Given the description of an element on the screen output the (x, y) to click on. 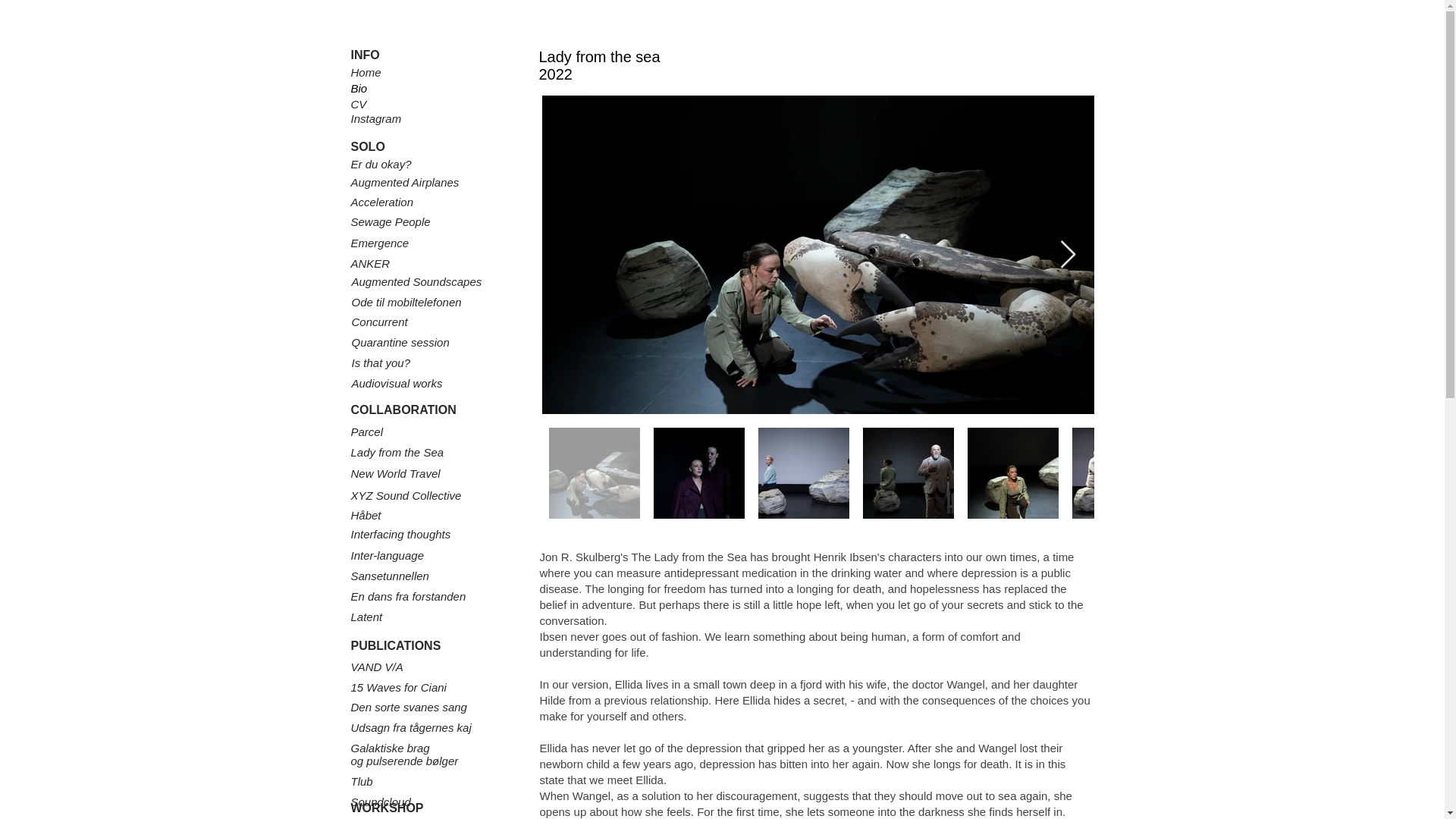
New World Travel (394, 472)
Quarantine session  (402, 341)
Instagram (375, 118)
Acceleration  (383, 201)
Lady from the Sea (397, 451)
Interfacing thoughts (399, 533)
Sewage People (389, 221)
15 Waves for Ciani (397, 686)
Sansetunnellen (389, 575)
Home (365, 72)
Concurrent  (381, 321)
En dans fra forstanden (407, 595)
Is that you?  (382, 362)
Ode til mobiltelefonen (406, 301)
Parcel (366, 431)
